Given the description of an element on the screen output the (x, y) to click on. 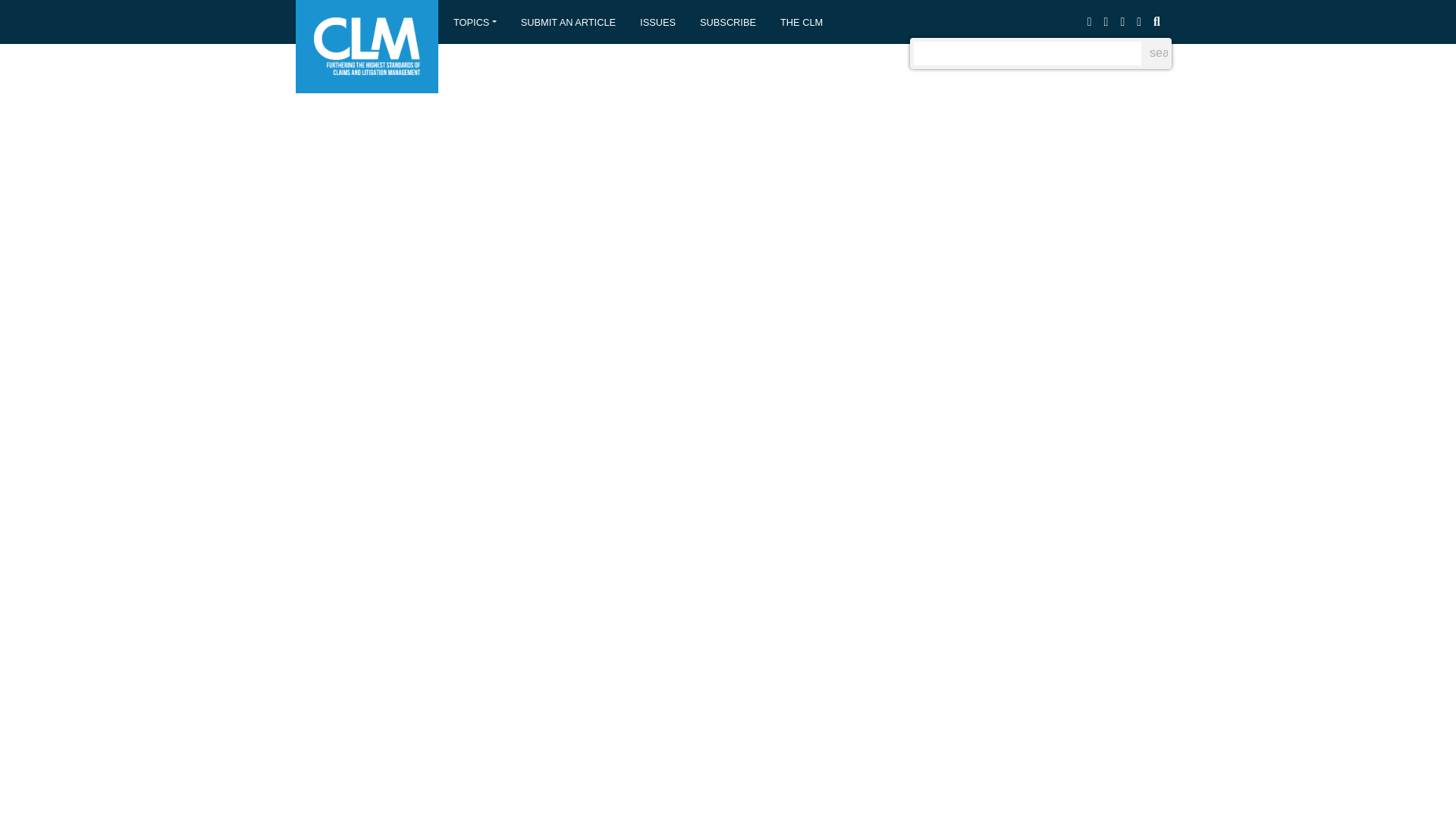
TOPICS (474, 22)
search (1155, 53)
